Given the description of an element on the screen output the (x, y) to click on. 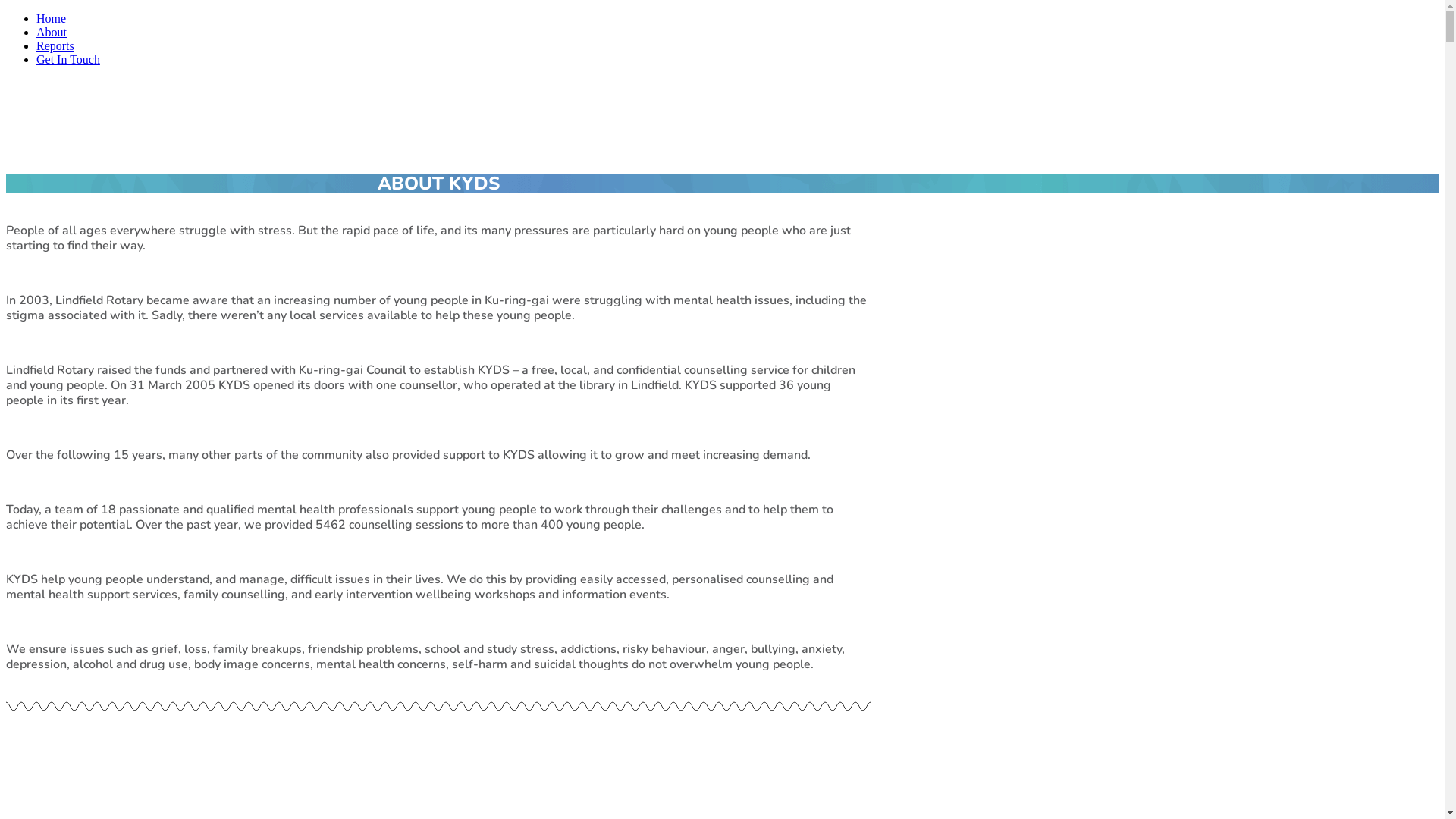
About Element type: text (51, 31)
Get In Touch Element type: text (68, 59)
Home Element type: text (50, 18)
Reports Element type: text (55, 45)
